Given the description of an element on the screen output the (x, y) to click on. 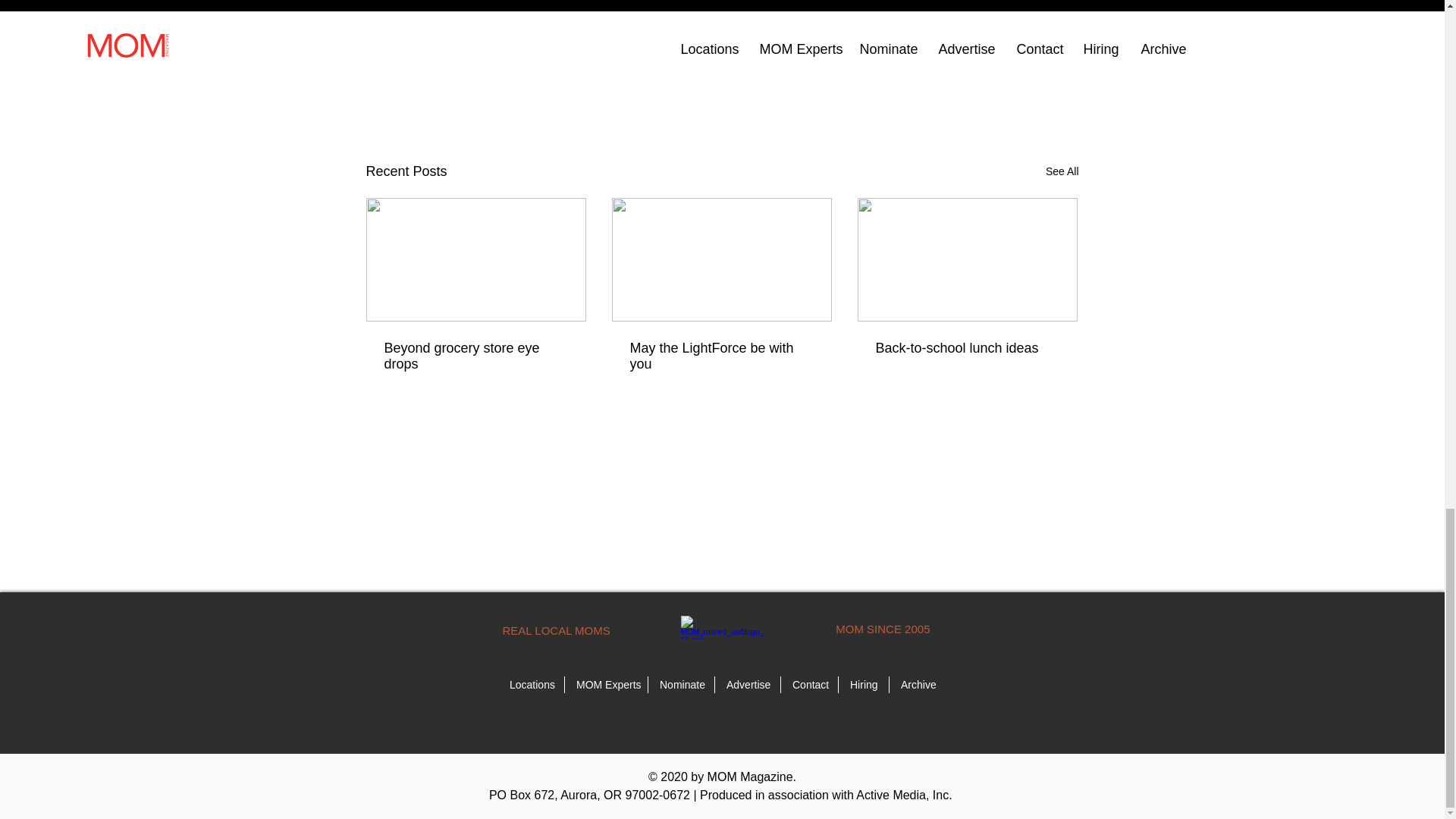
Contact (809, 684)
Beyond grocery store eye drops (475, 356)
May the LightForce be with you (720, 356)
Advertise (747, 684)
Back-to-school lunch ideas (966, 348)
Hiring (863, 684)
MOM Experts (605, 684)
See All (1061, 171)
Mid Valley Experts (959, 74)
Nominate (680, 684)
Health (466, 16)
